Given the description of an element on the screen output the (x, y) to click on. 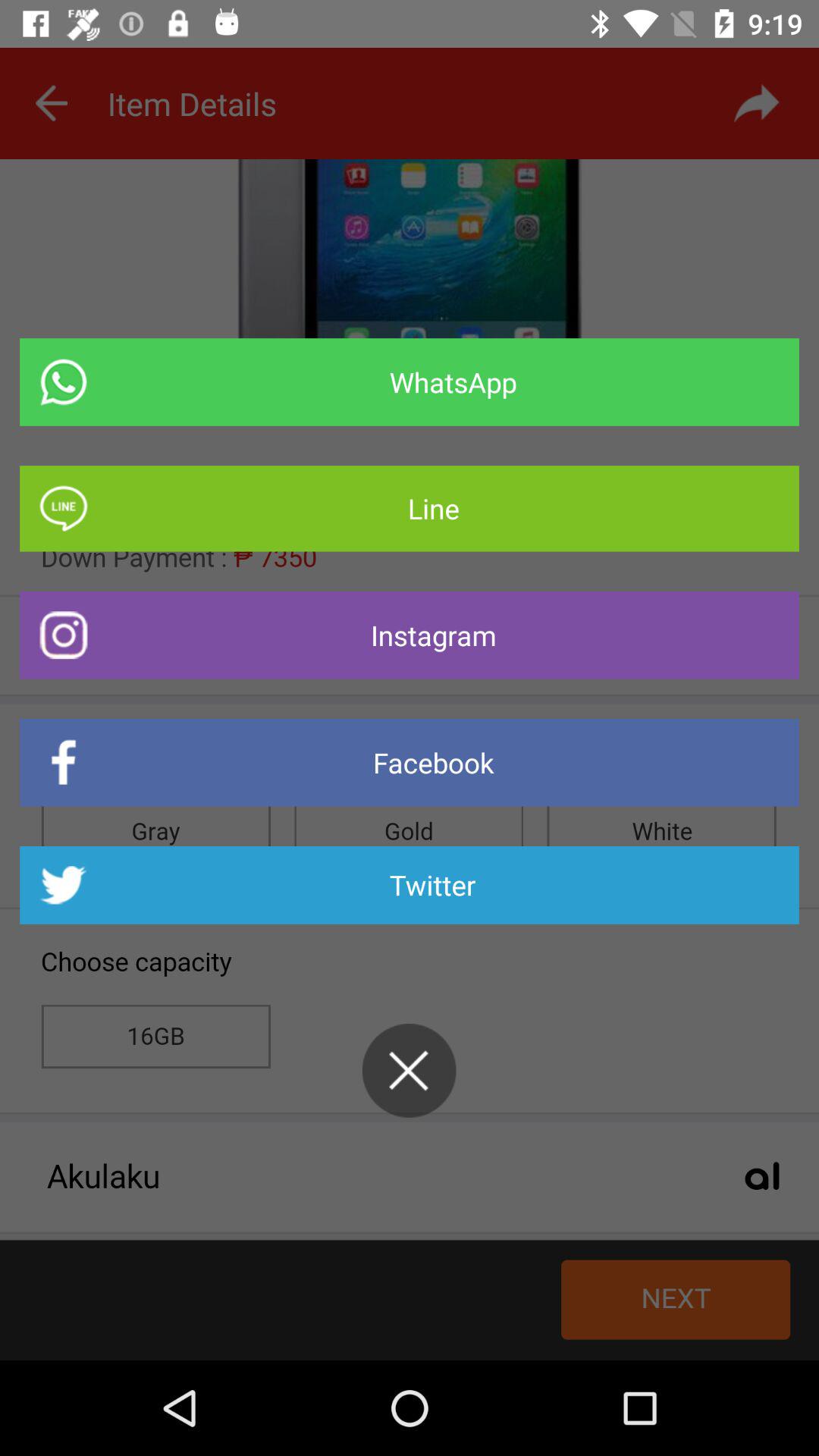
turn on the icon below the line (409, 635)
